Given the description of an element on the screen output the (x, y) to click on. 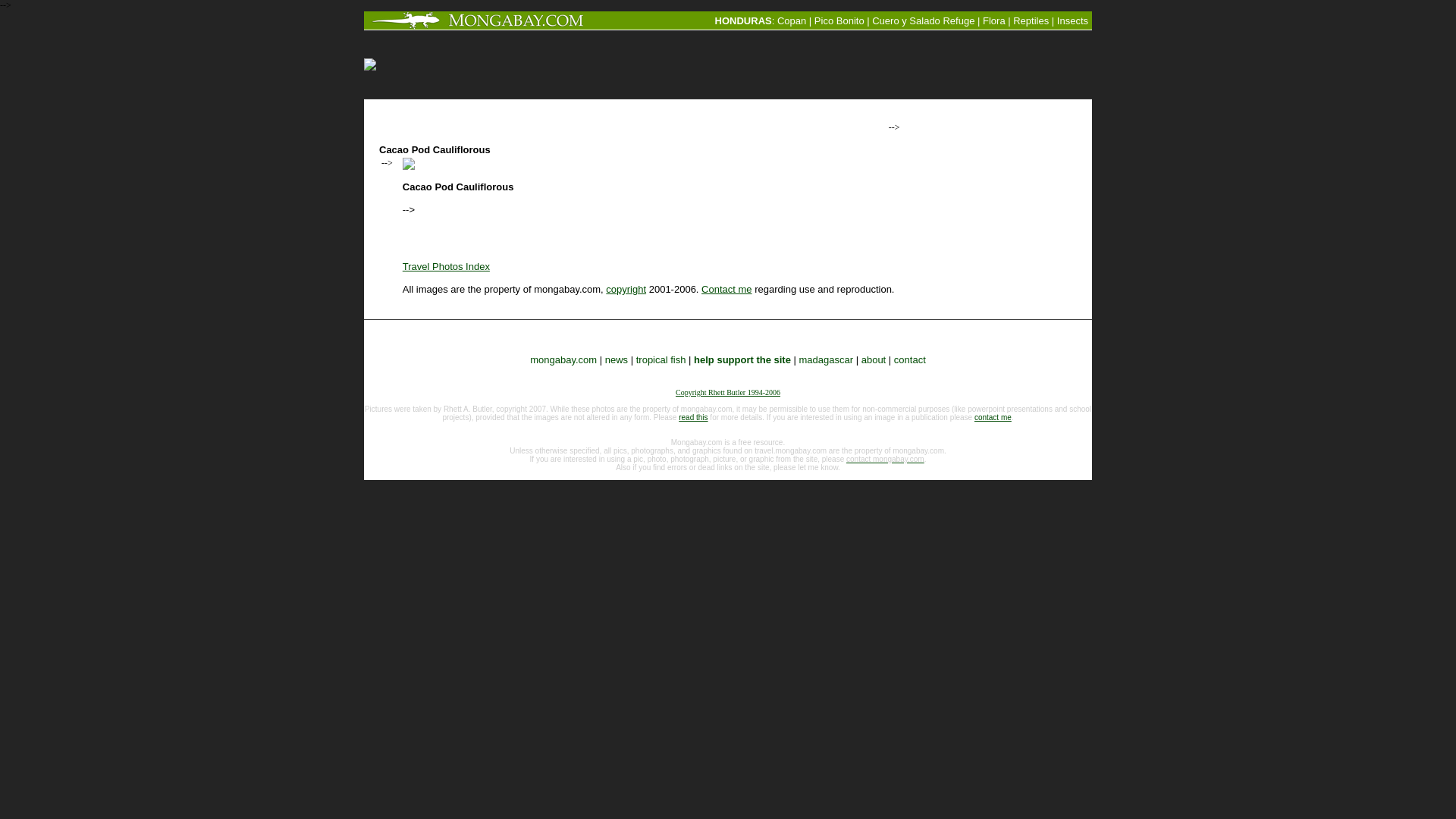
madagascar (826, 359)
contact (909, 359)
about (873, 359)
read this (692, 417)
Reptiles (1030, 20)
HONDURAS (742, 20)
copyright (625, 288)
Copan (791, 20)
Cuero y Salado Refuge (923, 20)
tropical fish (660, 359)
